Given the description of an element on the screen output the (x, y) to click on. 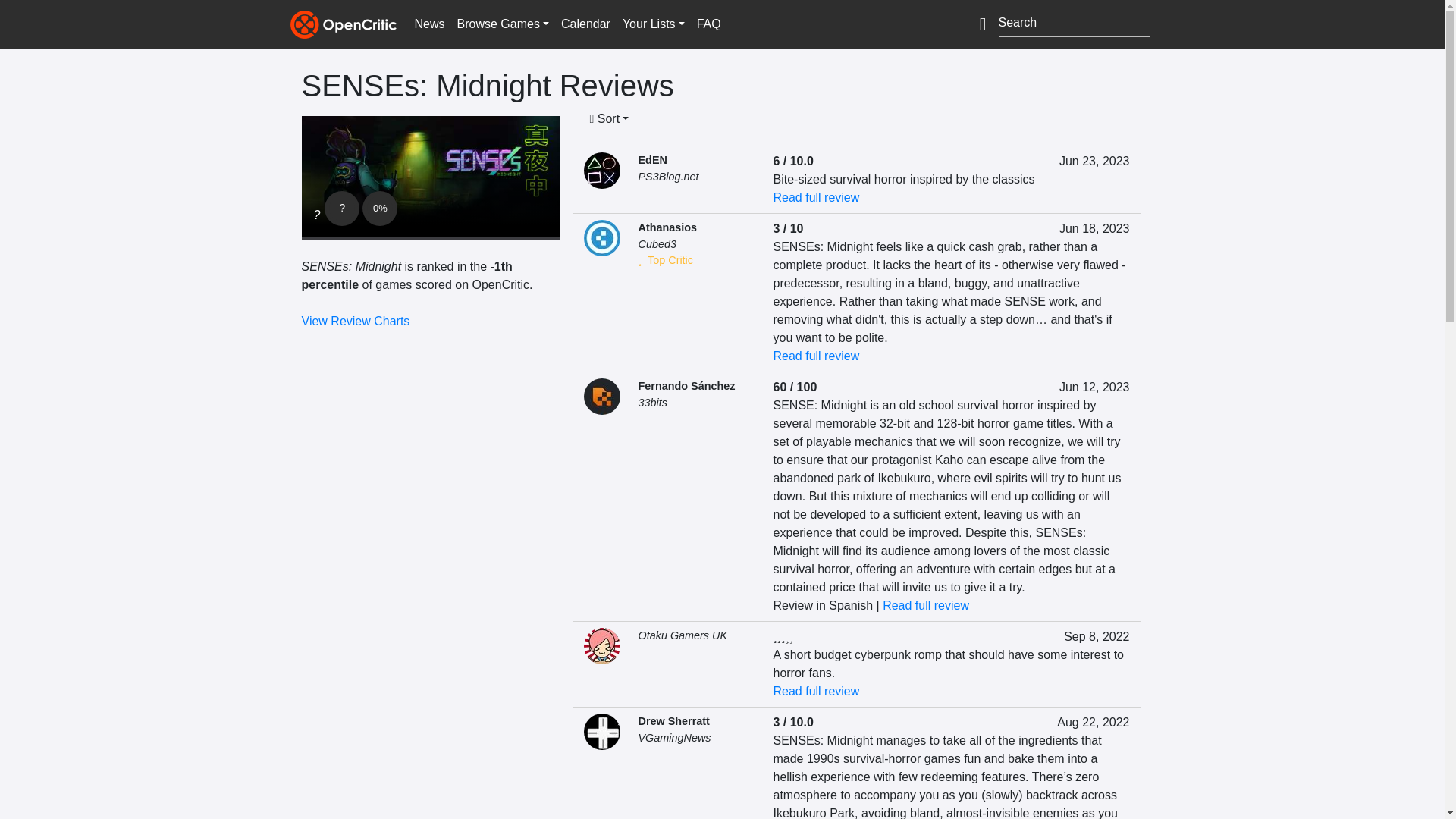
View Review Charts (355, 320)
33bits (652, 402)
News (428, 24)
Read full review (925, 604)
Browse Games (502, 24)
Read full review (816, 196)
Calendar (584, 24)
PS3Blog.net (668, 176)
Your Lists (652, 24)
Cubed3 (658, 244)
